Given the description of an element on the screen output the (x, y) to click on. 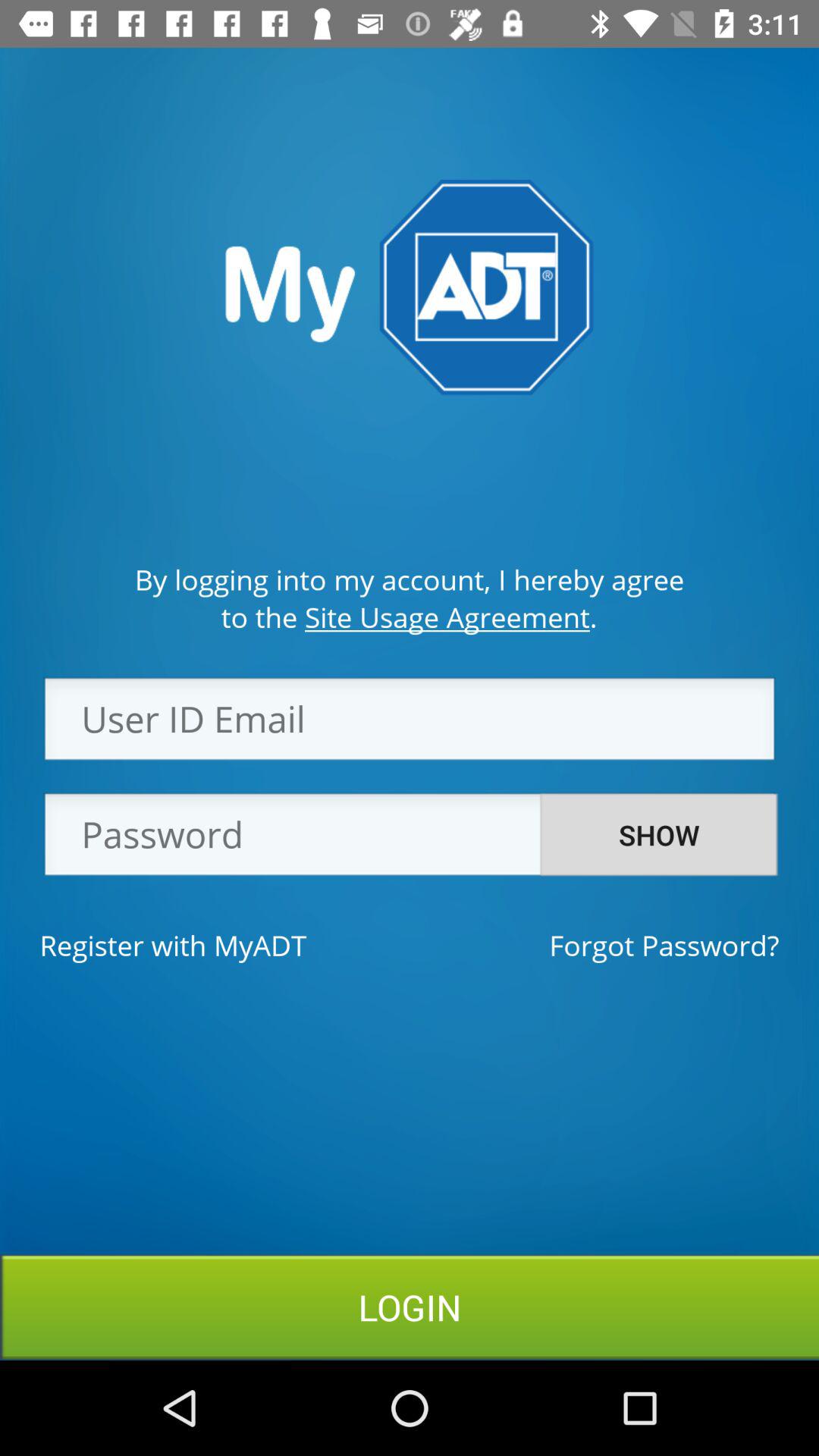
turn off the icon above the to the site item (409, 579)
